Given the description of an element on the screen output the (x, y) to click on. 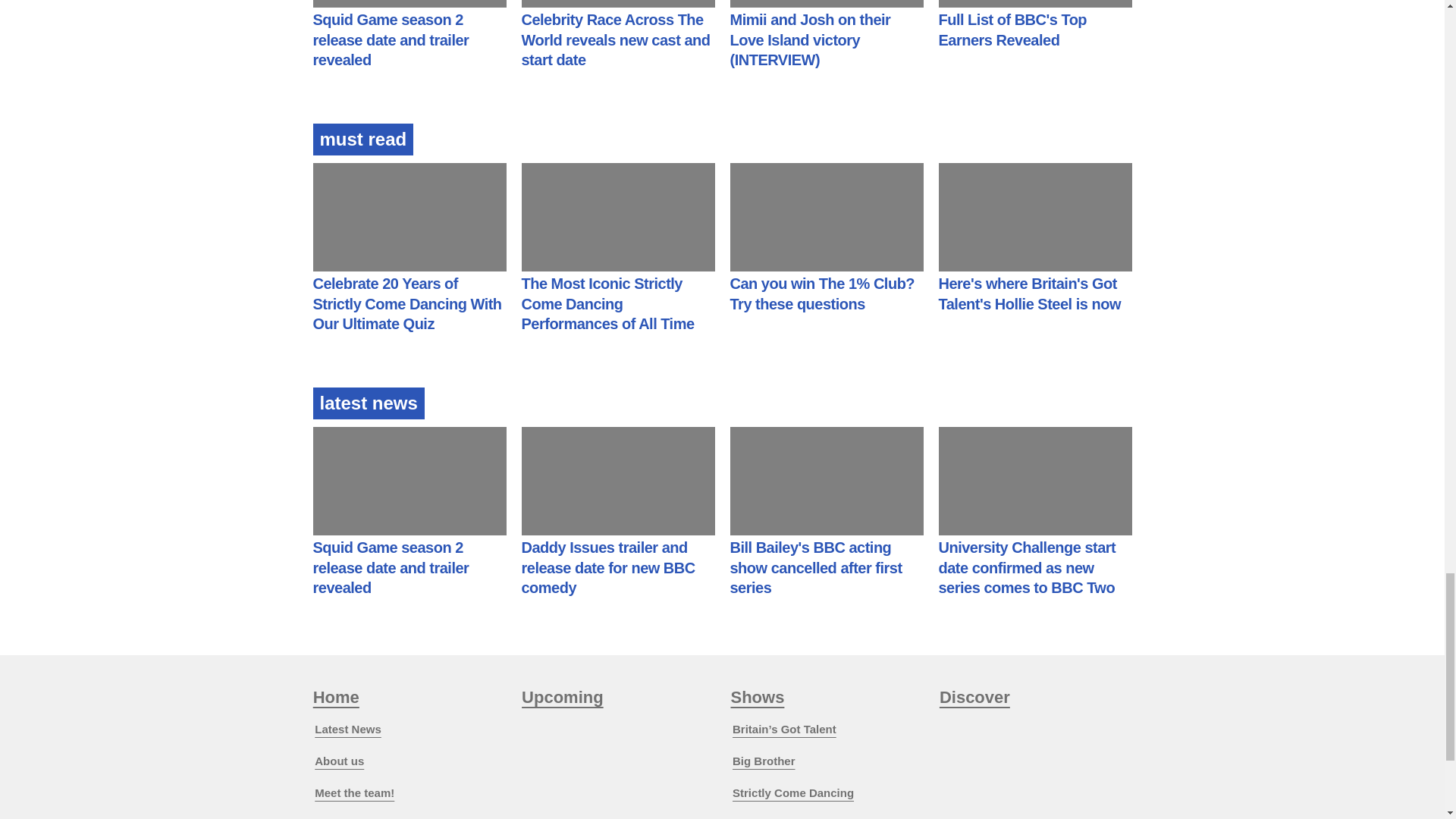
Squid Game season 2 release date and trailer revealed (390, 39)
Full List of BBC's Top Earners Revealed (1013, 29)
